Given the description of an element on the screen output the (x, y) to click on. 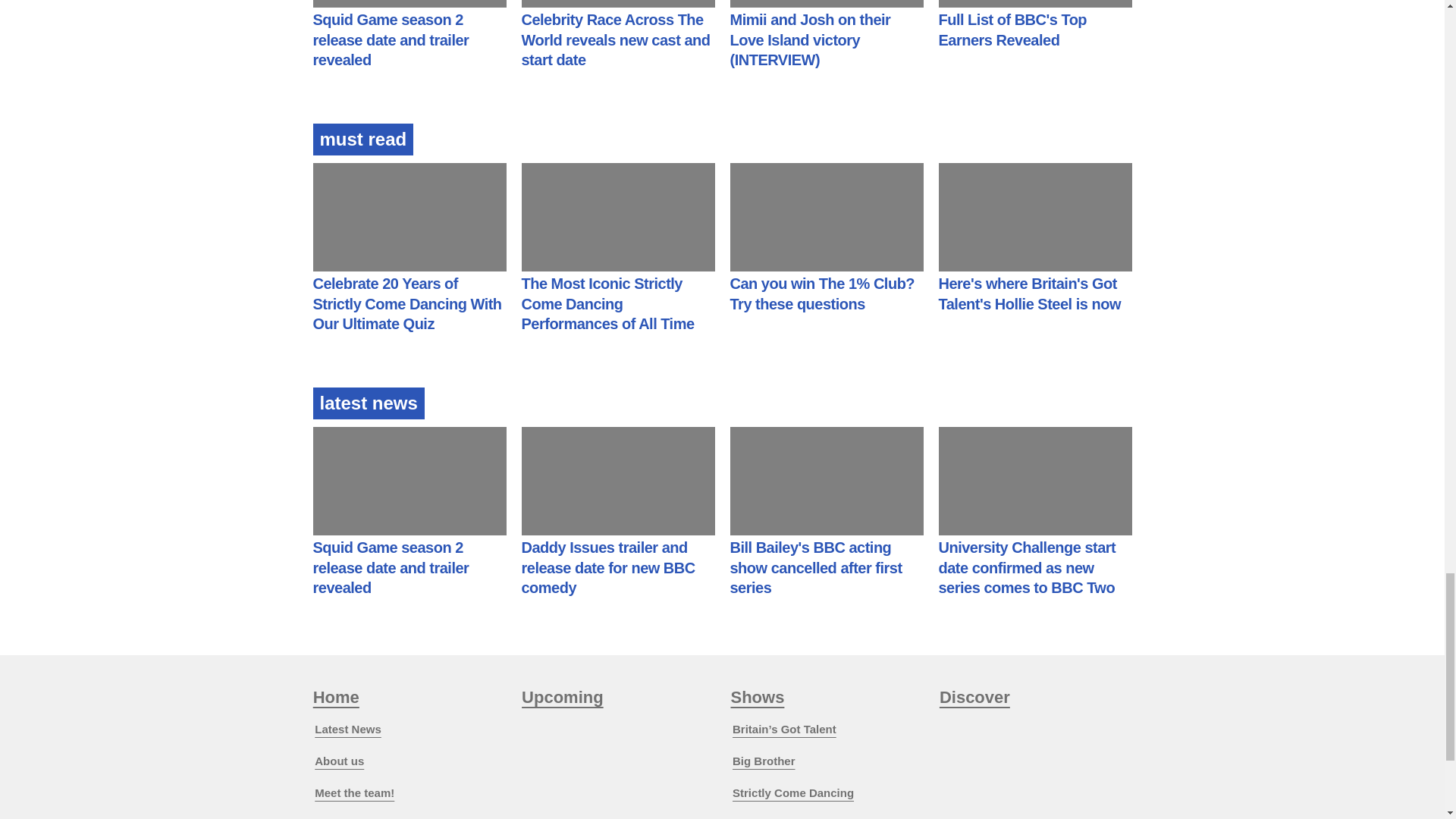
Squid Game season 2 release date and trailer revealed (390, 39)
Full List of BBC's Top Earners Revealed (1013, 29)
